Given the description of an element on the screen output the (x, y) to click on. 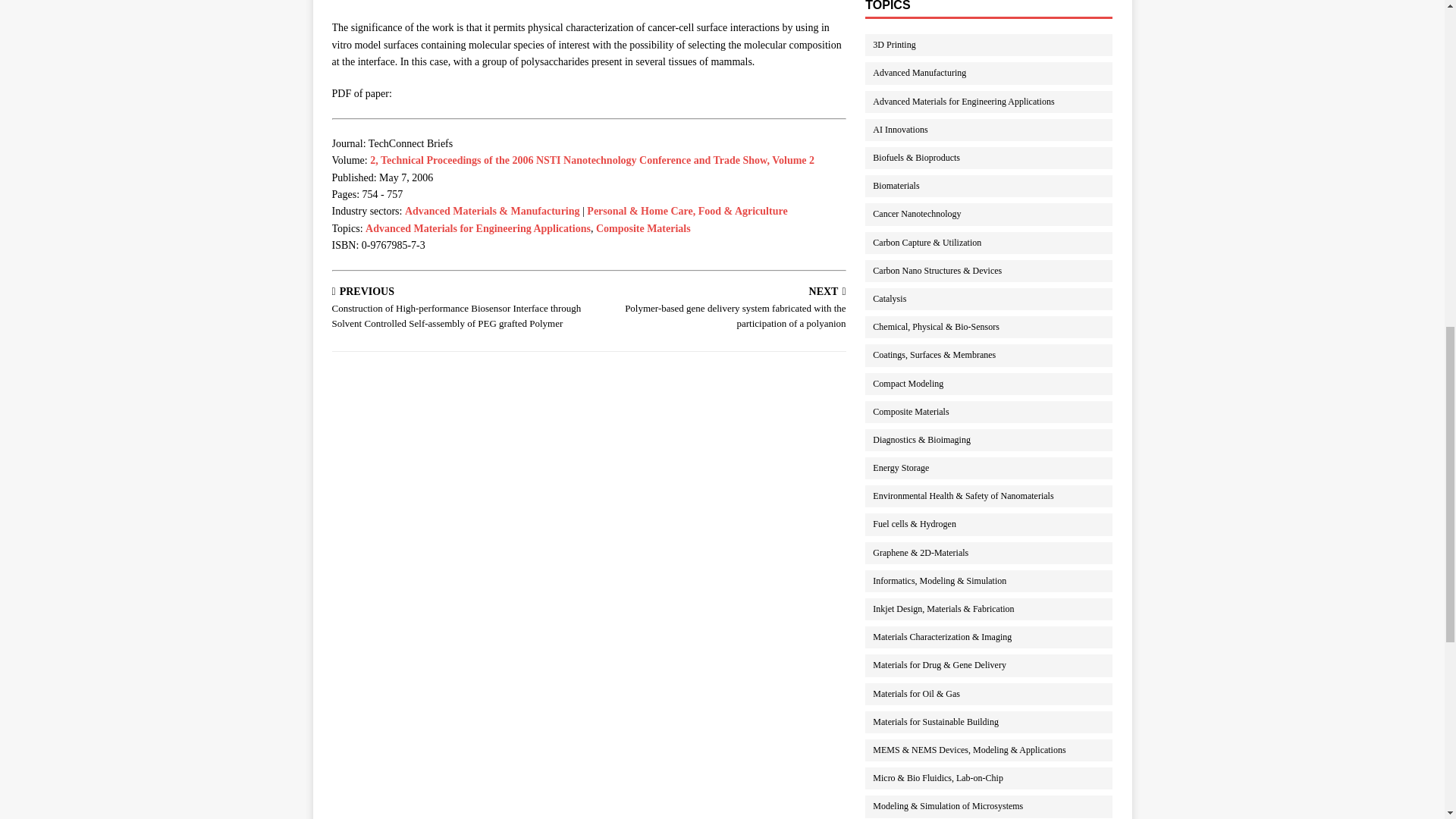
Biomaterials (995, 186)
Advanced Materials for Engineering Applications (478, 228)
Advanced Materials for Engineering Applications (995, 101)
Advanced Manufacturing (995, 73)
Composite Materials (642, 228)
Composite Materials (642, 228)
AI Innovations (995, 129)
